Given the description of an element on the screen output the (x, y) to click on. 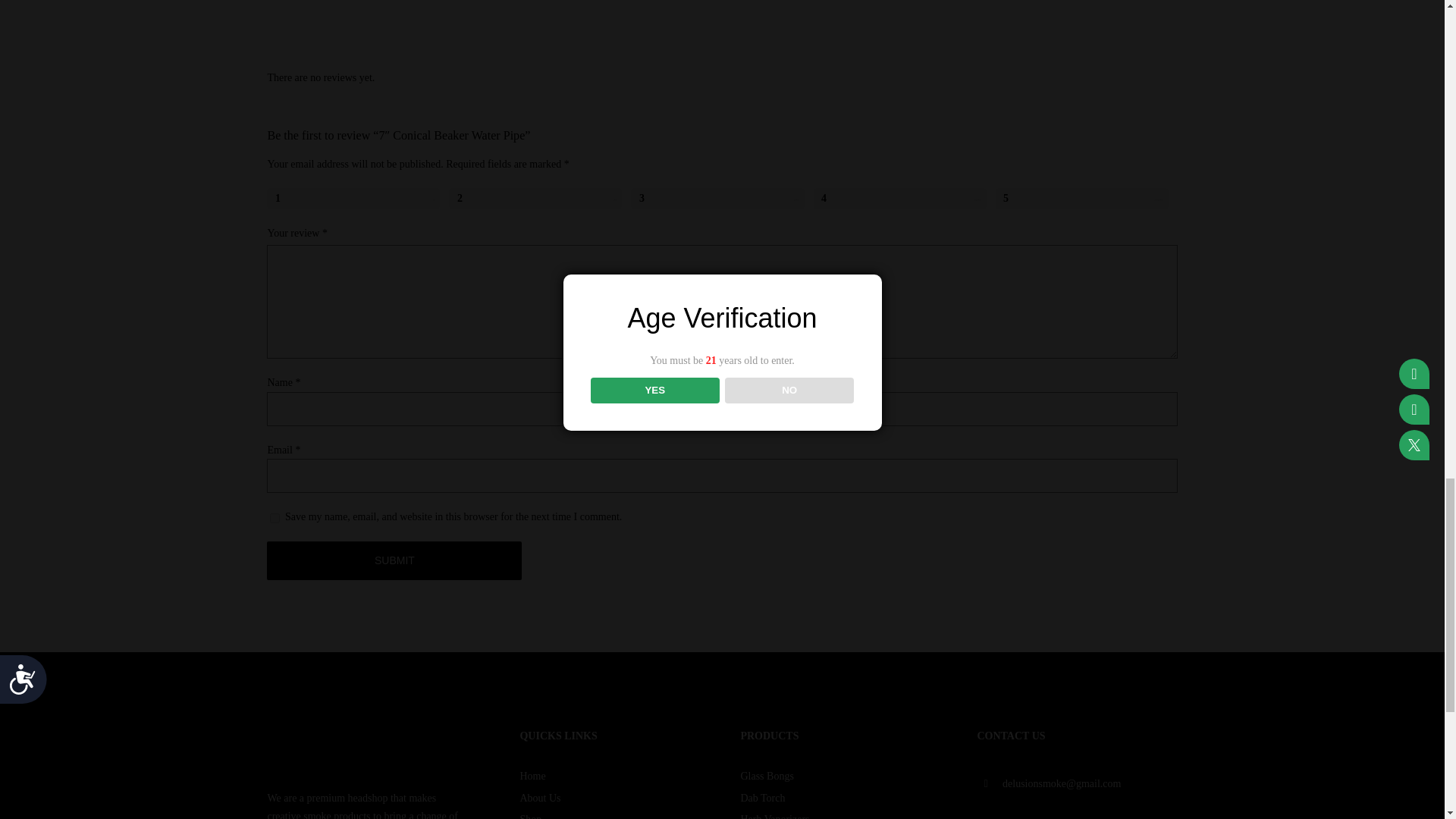
yes (274, 518)
Submit (393, 560)
